Given the description of an element on the screen output the (x, y) to click on. 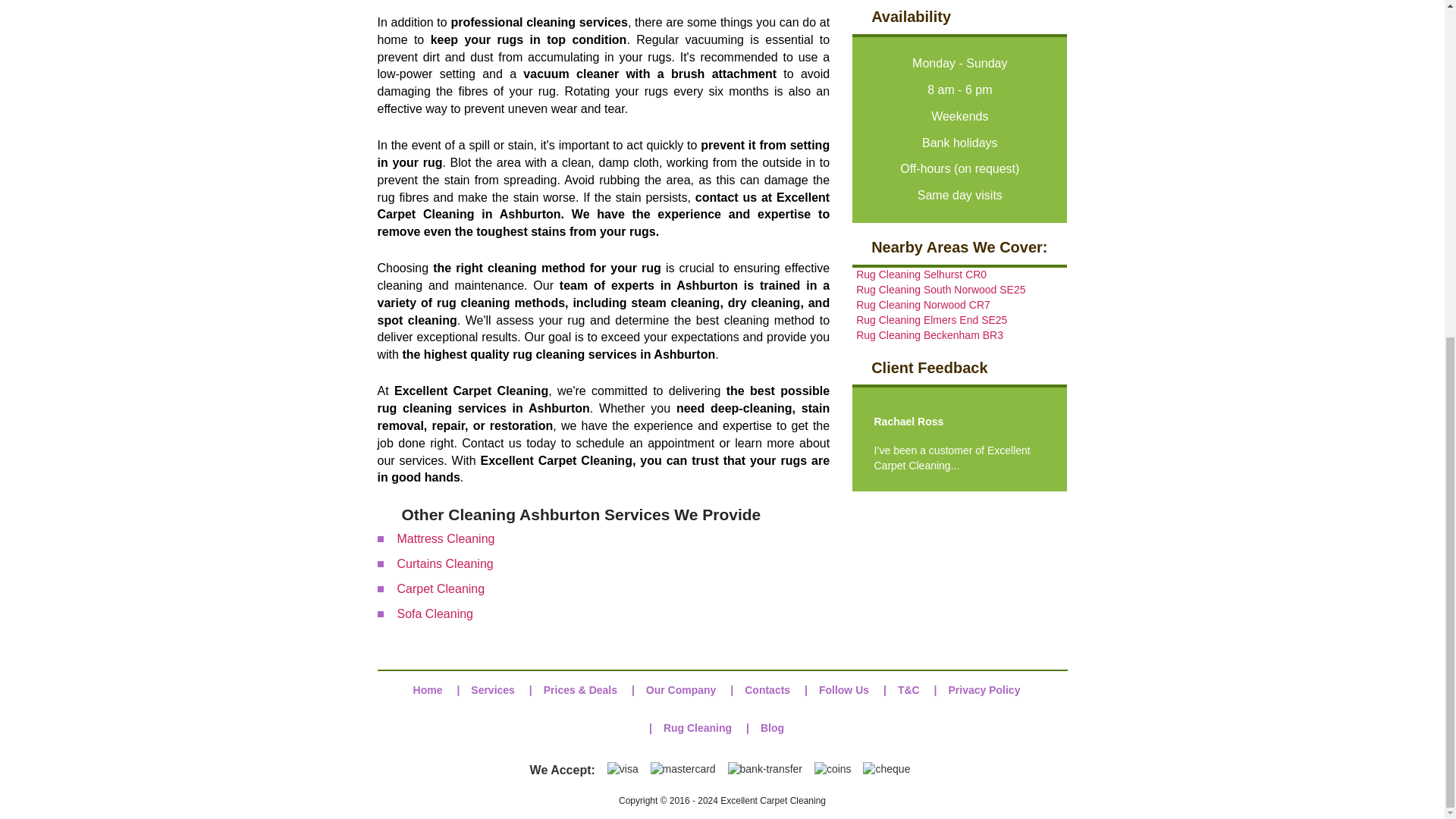
Carpet Cleaning (440, 588)
Rug Cleaning Selhurst CR0 (921, 274)
Sofa Cleaning (435, 613)
Rug Cleaning Elmers End SE25 (931, 319)
Curtains Cleaning (445, 563)
Rug Cleaning Norwood CR7 (923, 304)
Rug Cleaning South Norwood SE25 (940, 289)
Mattress Cleaning (446, 538)
Rug Cleaning Beckenham BR3 (929, 335)
